Given the description of an element on the screen output the (x, y) to click on. 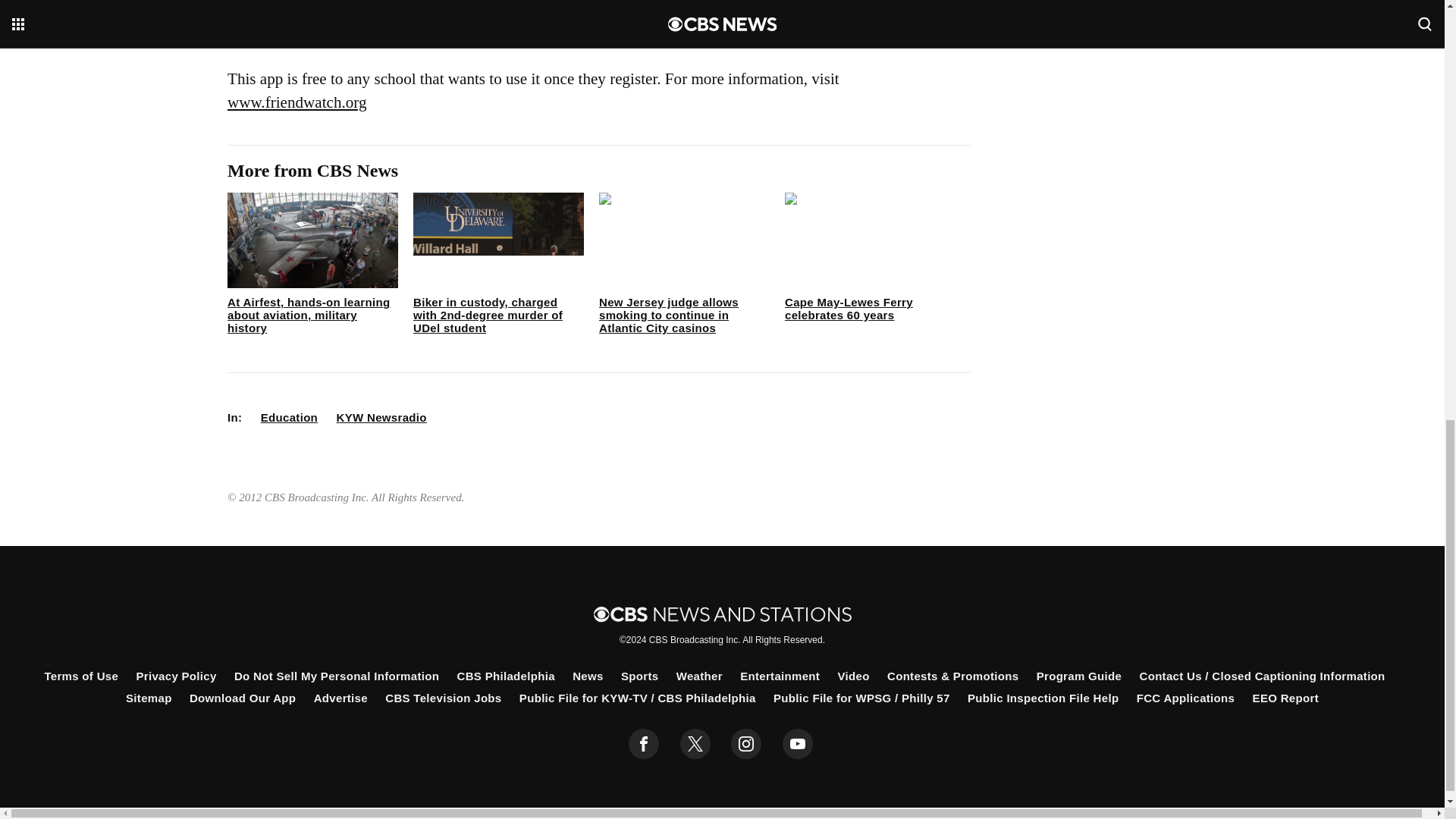
twitter (694, 743)
facebook (643, 743)
instagram (745, 743)
youtube (797, 743)
